Given the description of an element on the screen output the (x, y) to click on. 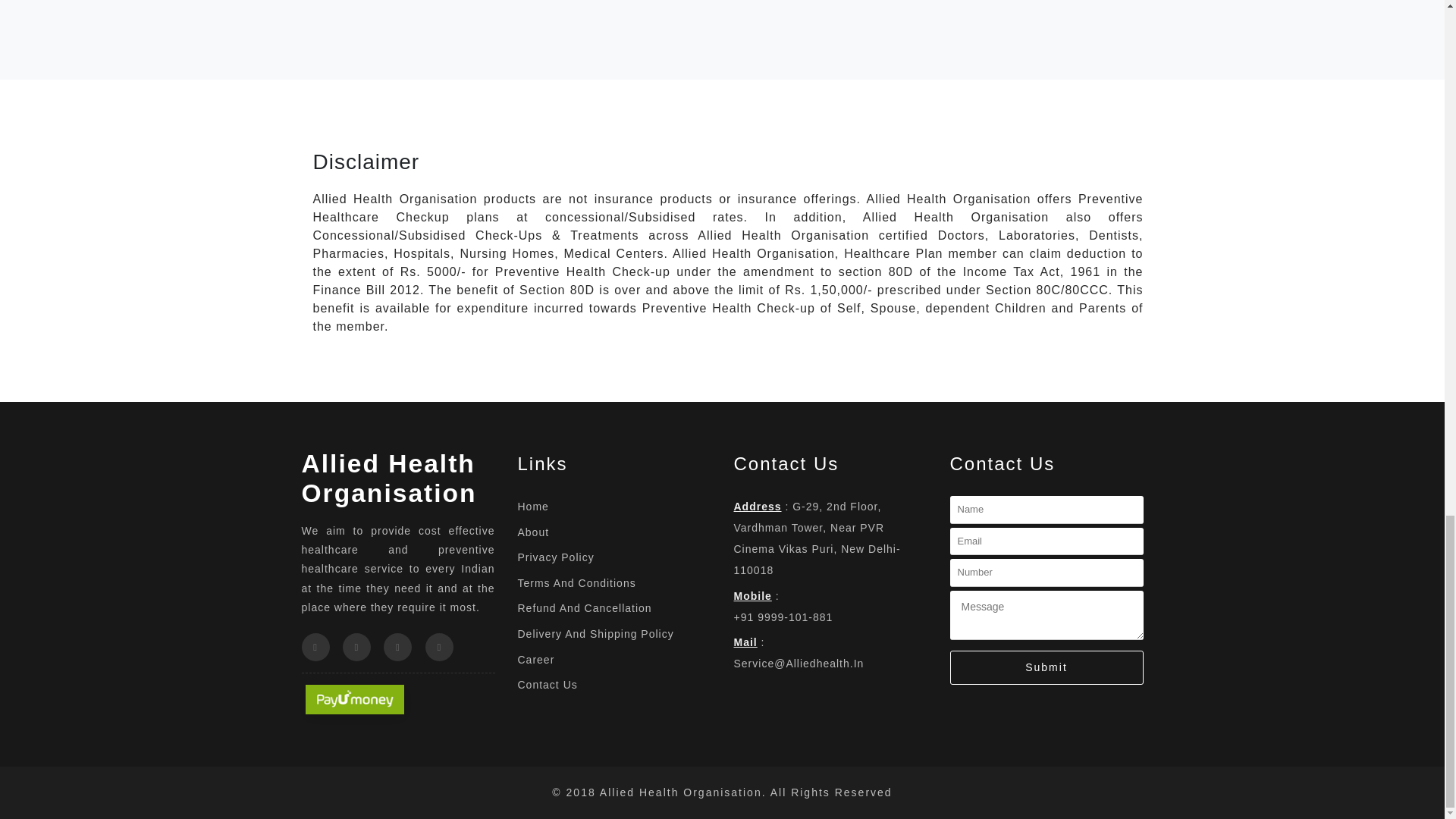
Allied Health Organisation (389, 477)
Contact Us (613, 684)
Career (613, 659)
Home (613, 506)
Submit (1045, 667)
Delivery And Shipping Policy (613, 633)
Privacy Policy (613, 557)
About (613, 531)
Refund And Cancellation (613, 608)
Terms And Conditions (613, 582)
